Given the description of an element on the screen output the (x, y) to click on. 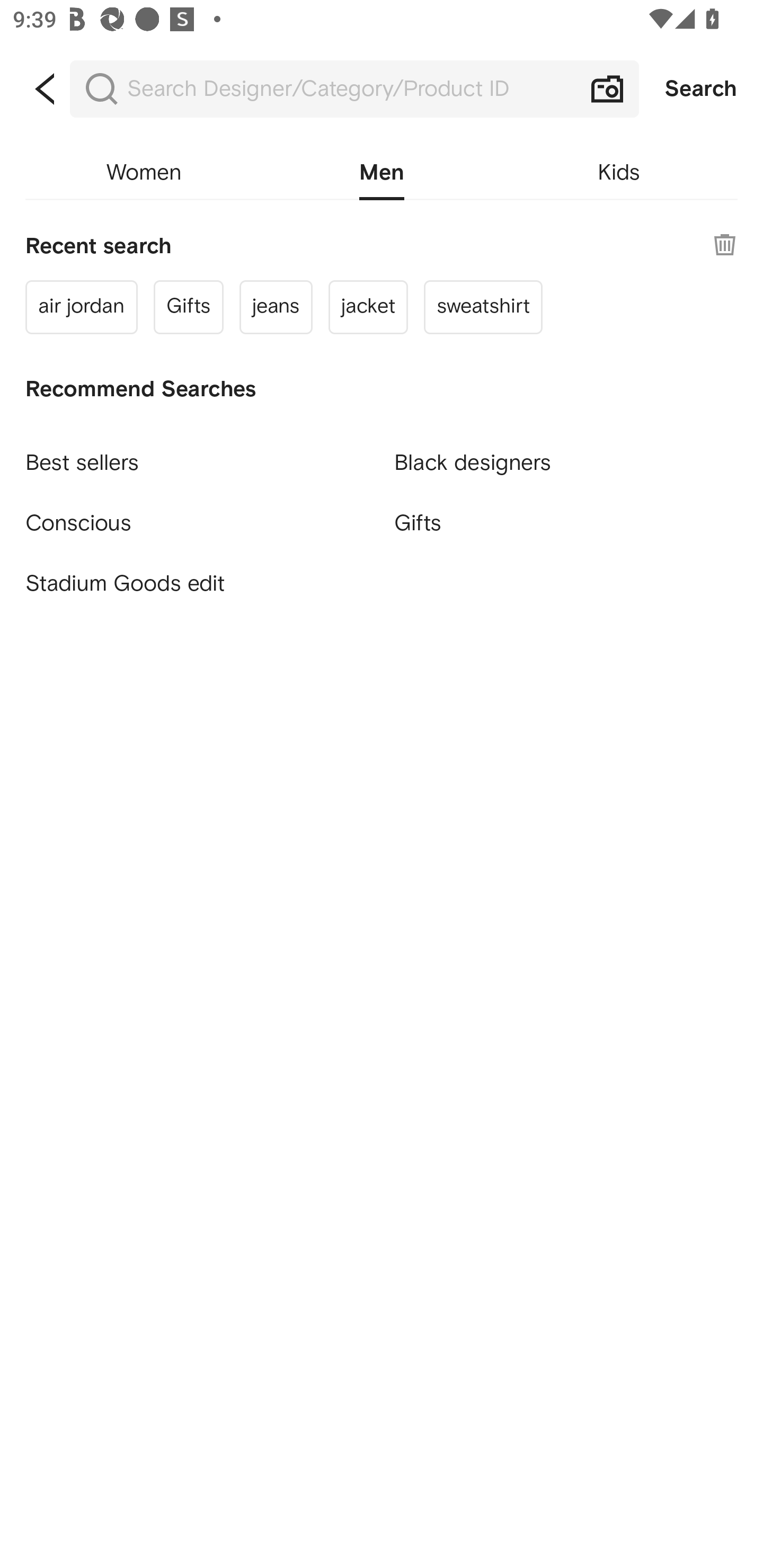
Search (701, 89)
Women (143, 172)
Kids (618, 172)
air jordan (81, 306)
Gifts (188, 306)
jeans (276, 306)
jacket (368, 306)
sweatshirt (482, 306)
Best sellers (196, 454)
Black designers (565, 454)
Conscious (196, 514)
Gifts (565, 522)
Stadium Goods edit (196, 583)
